Given the description of an element on the screen output the (x, y) to click on. 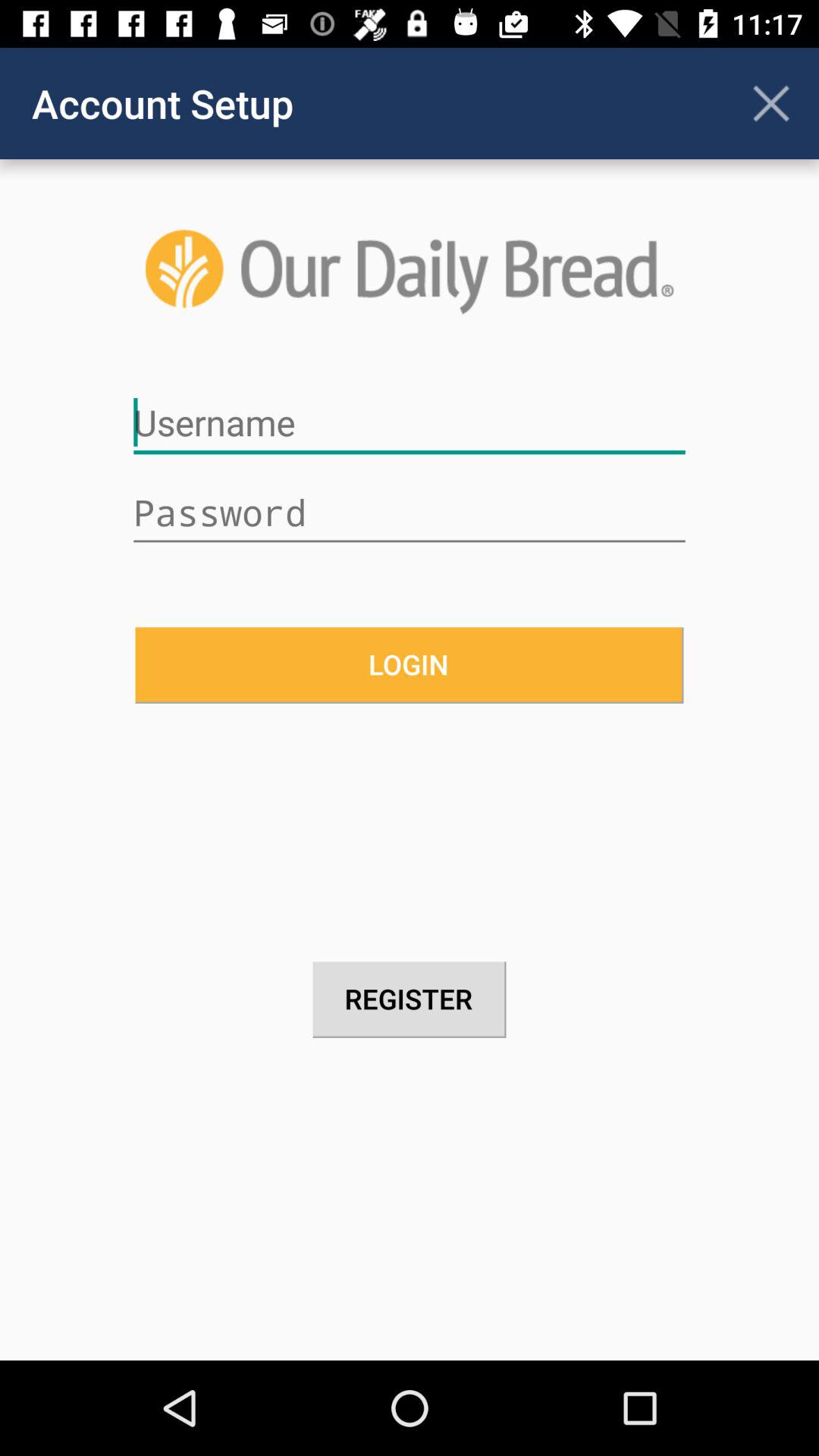
jump until the register icon (409, 999)
